Given the description of an element on the screen output the (x, y) to click on. 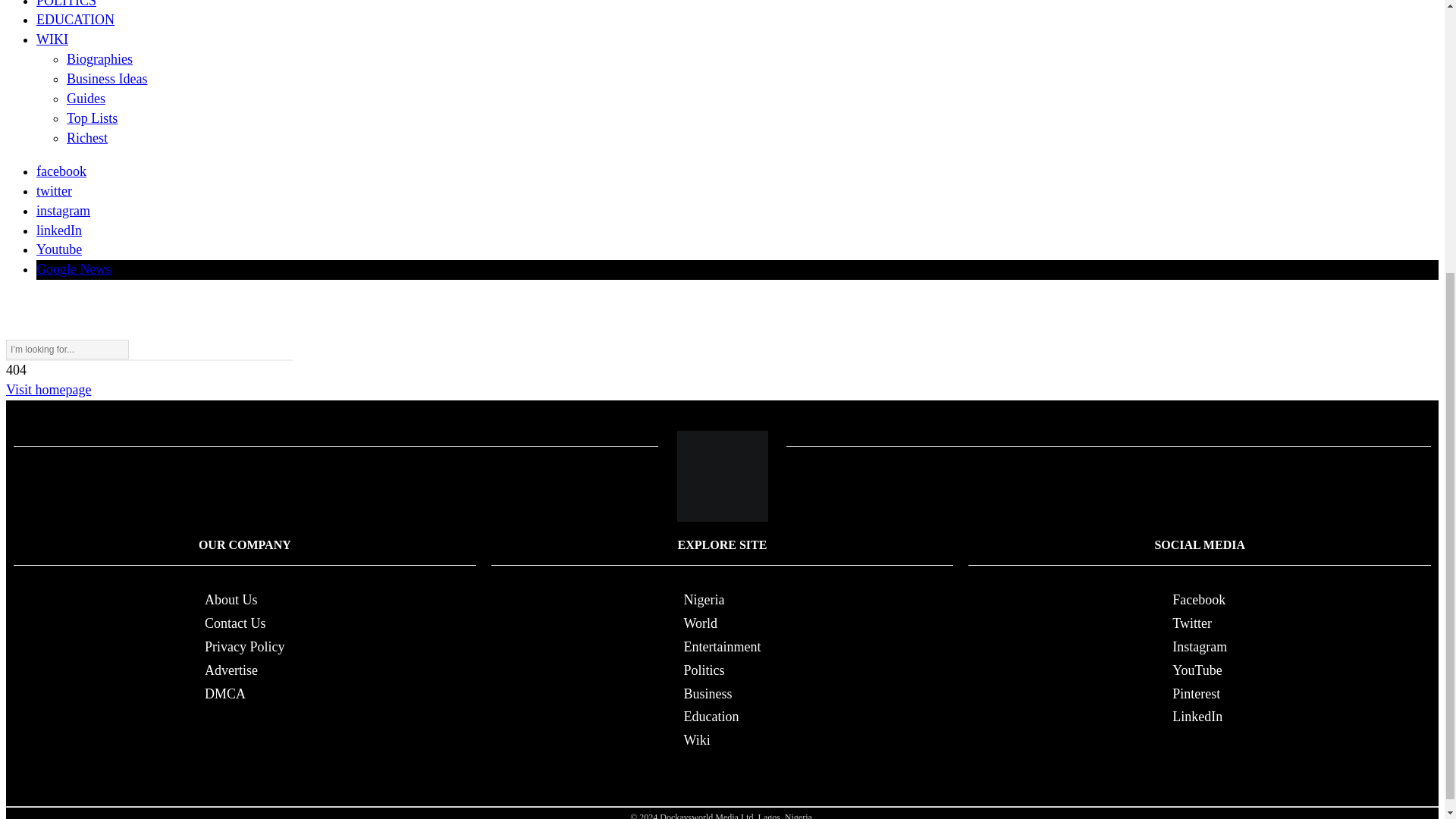
Richest (86, 137)
facebook (60, 171)
Top Lists (91, 118)
linkedIn (58, 229)
Guides (85, 98)
EDUCATION (75, 19)
twitter (53, 191)
instagram (63, 210)
Youtube (58, 249)
WIKI (52, 38)
Google News (73, 268)
Visit homepage (47, 389)
Biographies (99, 58)
POLITICS (66, 4)
